Given the description of an element on the screen output the (x, y) to click on. 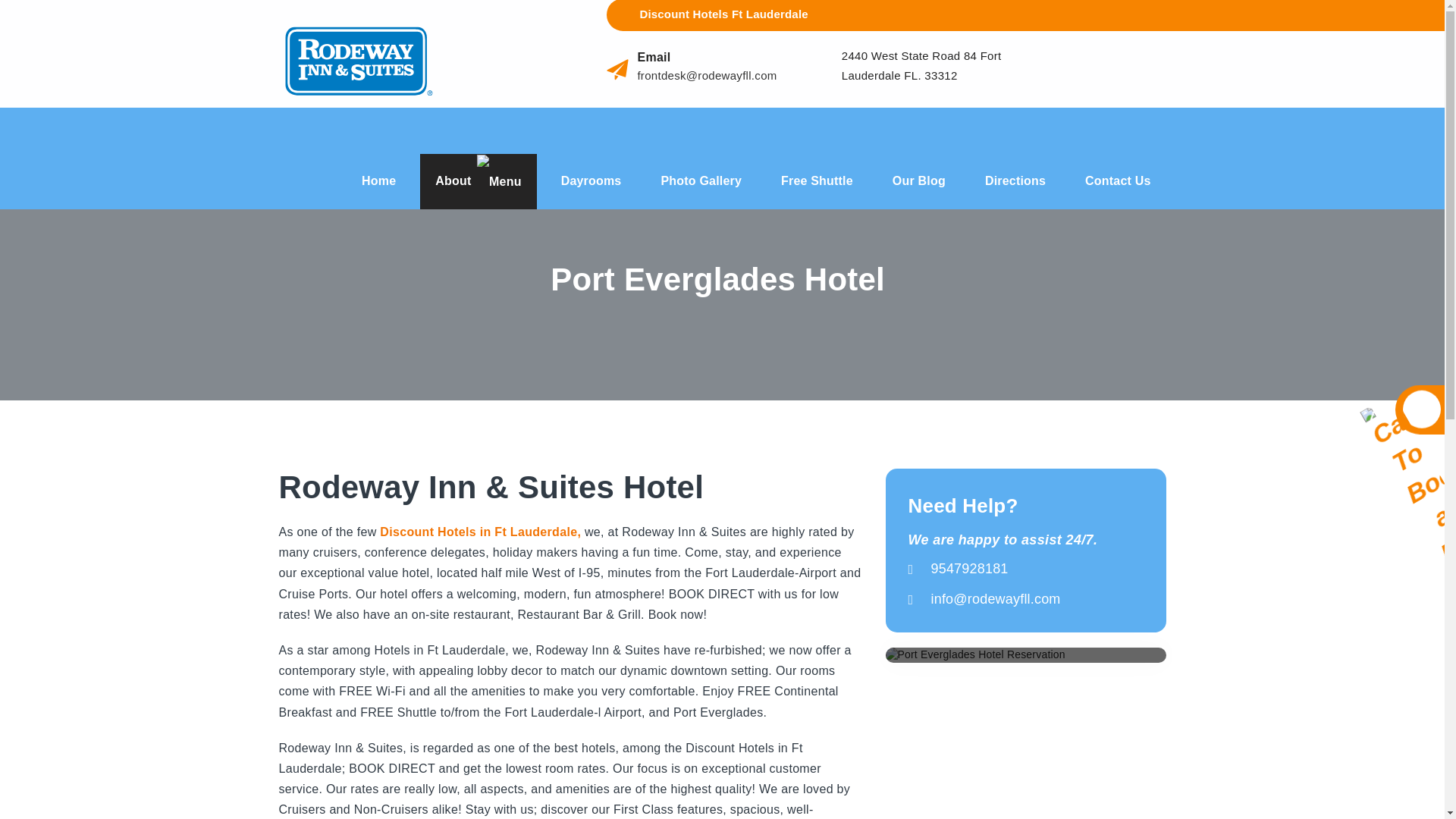
Photo Gallery (701, 180)
Contact Us (1118, 180)
Dayrooms (591, 180)
About (477, 181)
Our Blog (918, 180)
Home (378, 180)
Free Shuttle (816, 180)
Directions (1015, 180)
